Given the description of an element on the screen output the (x, y) to click on. 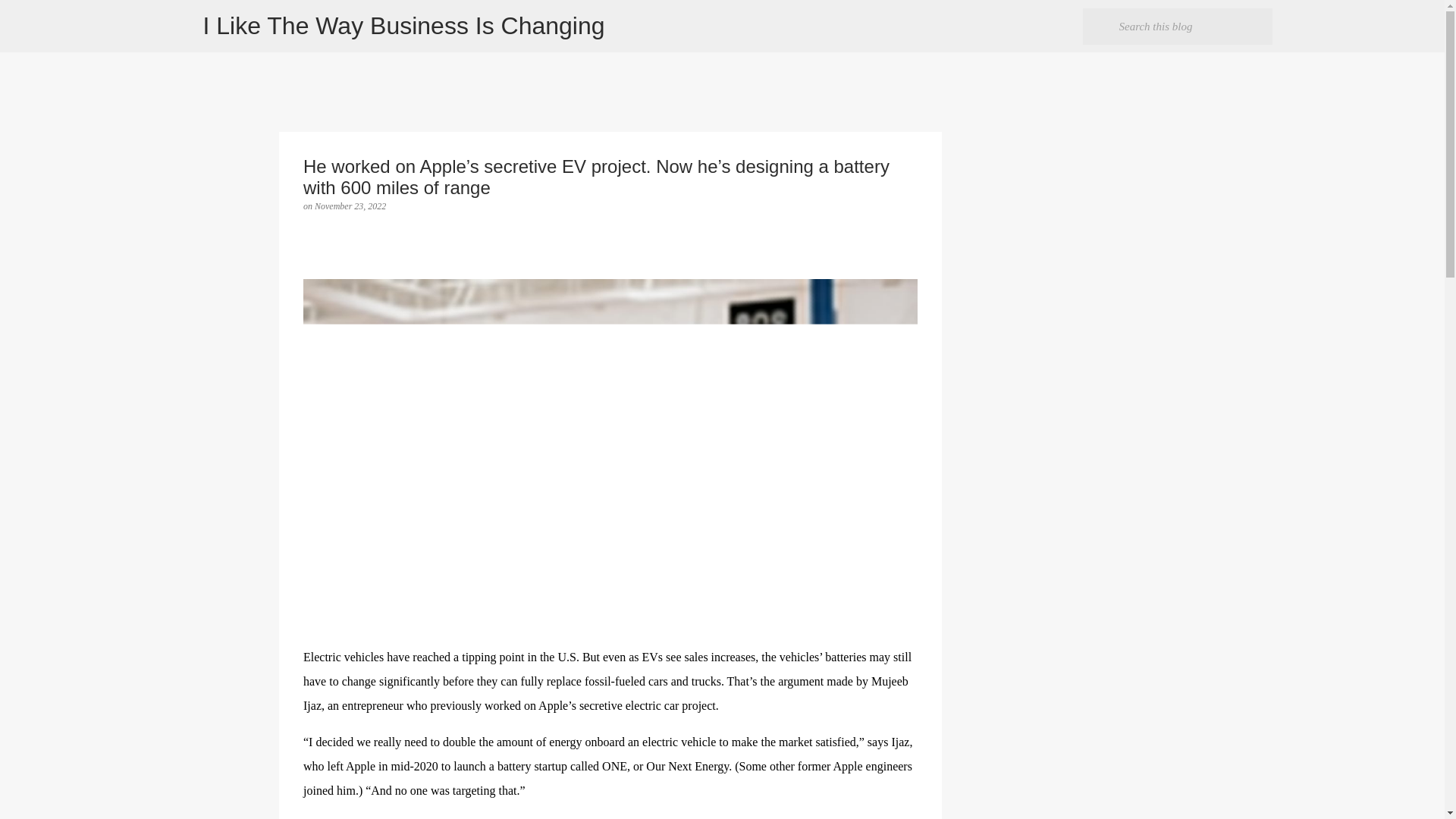
permanent link (349, 205)
November 23, 2022 (349, 205)
I Like The Way Business Is Changing (404, 25)
